Given the description of an element on the screen output the (x, y) to click on. 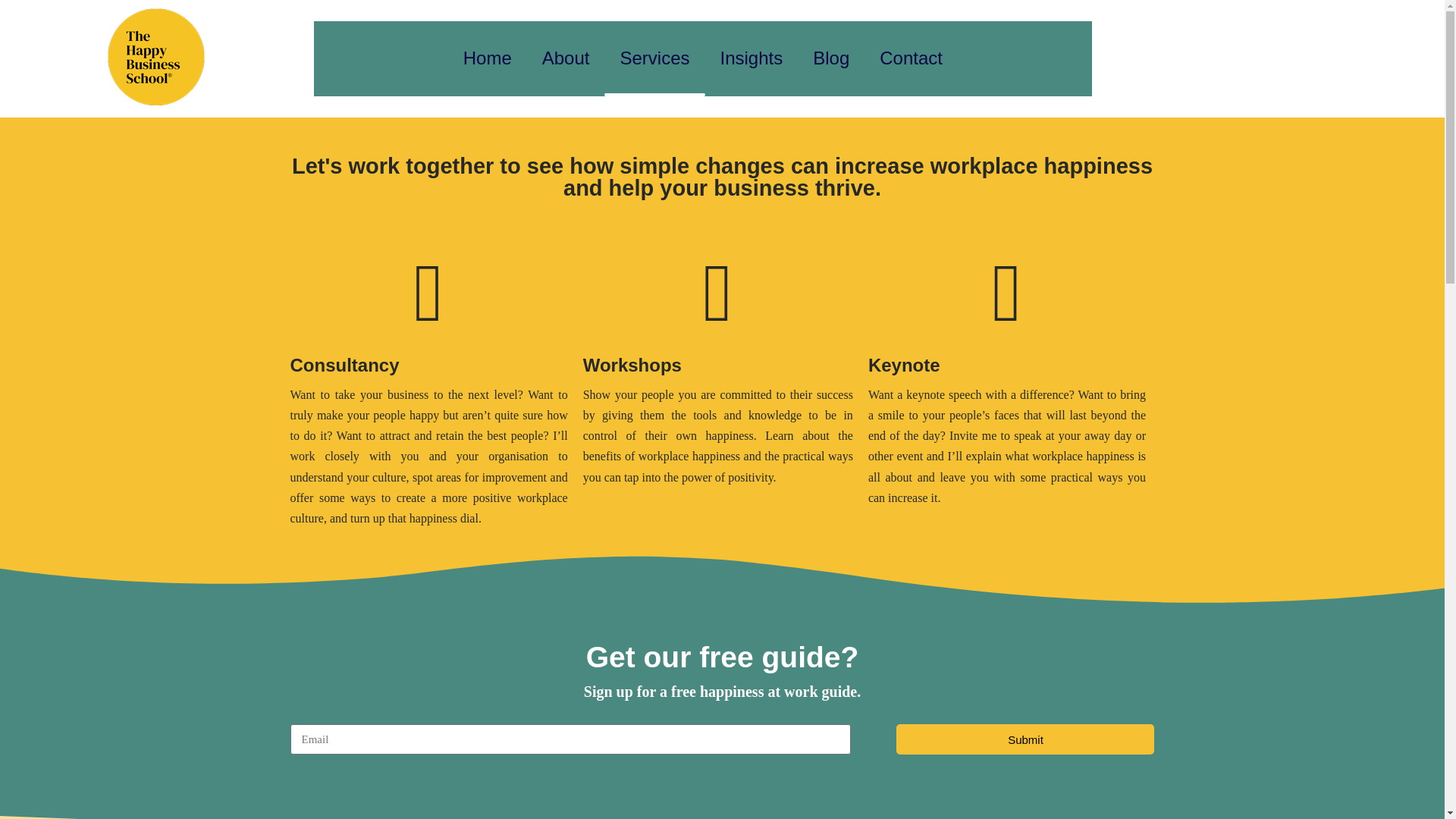
Home (487, 58)
Insights (750, 58)
Blog (830, 58)
Services (654, 58)
About (566, 58)
Consultancy (343, 364)
Keynote (903, 364)
Submit (1025, 738)
Contact (911, 58)
Workshops (632, 364)
